Given the description of an element on the screen output the (x, y) to click on. 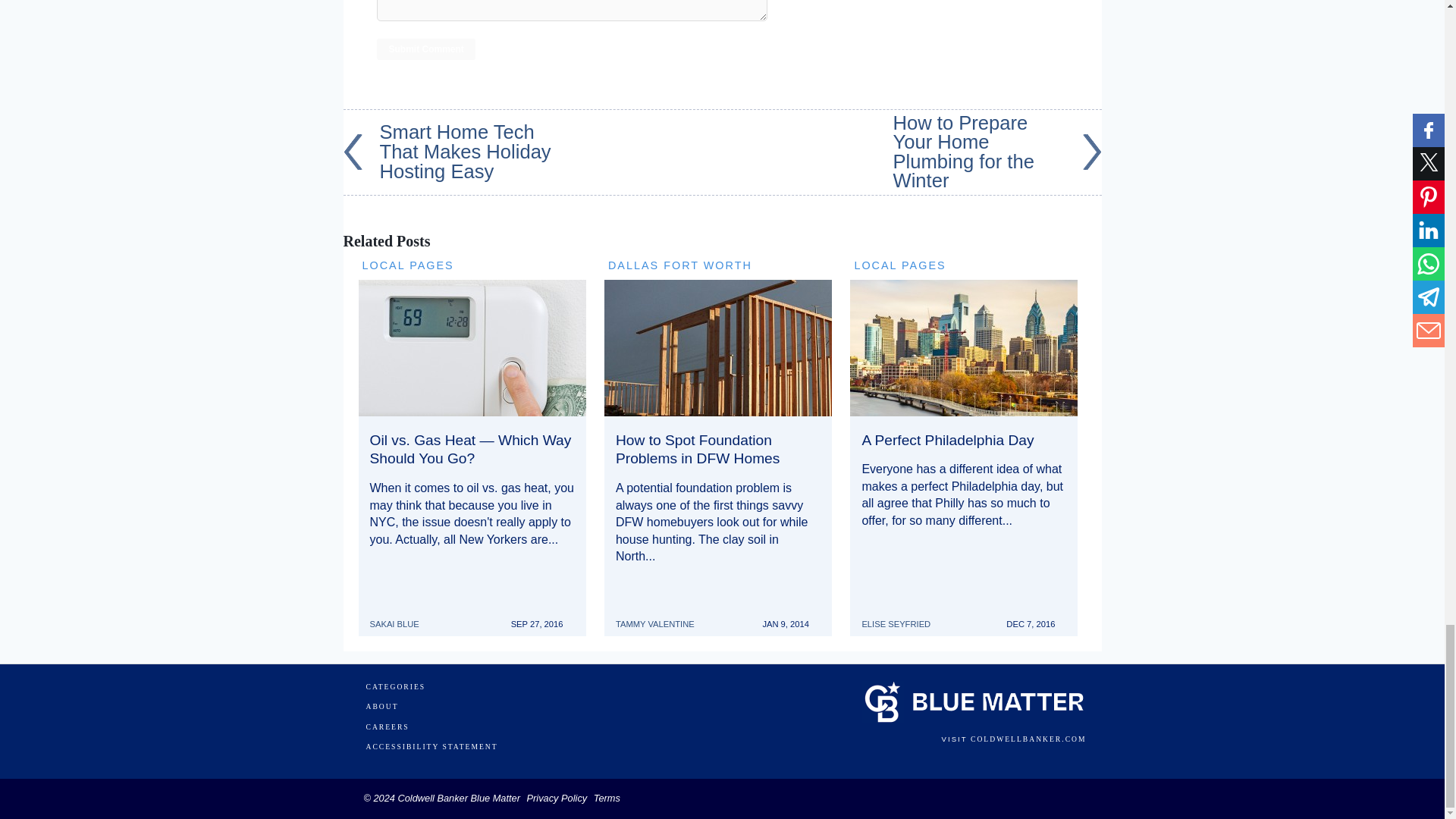
Smart Home Tech That Makes Holiday Hosting Easy (446, 151)
SAKAI BLUE (399, 616)
DALLAS FORT WORTH (680, 265)
Smart Home Tech That Makes Holiday Hosting Easy (446, 151)
How to Prepare Your Home Plumbing for the Winter (997, 151)
How to Prepare Your Home Plumbing for the Winter (997, 151)
Posts by Elise Seyfried (901, 616)
Posts by Tammy Valentine (660, 616)
LOCAL PAGES (408, 265)
Submit Comment (425, 48)
Submit Comment (425, 48)
Posts by Sakai Blue (399, 616)
